Given the description of an element on the screen output the (x, y) to click on. 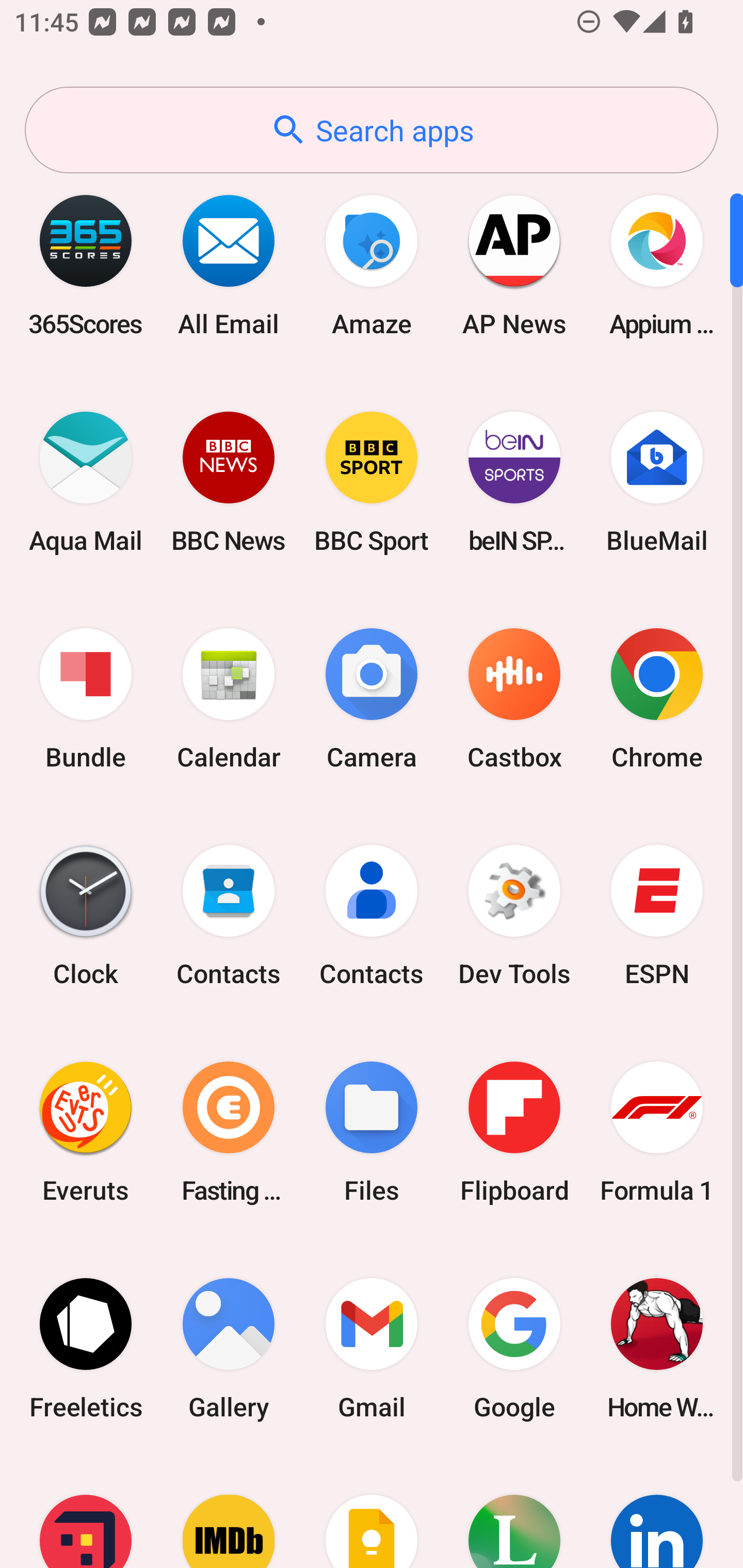
  Search apps (371, 130)
365Scores (85, 264)
All Email (228, 264)
Amaze (371, 264)
AP News (514, 264)
Appium Settings (656, 264)
Aqua Mail (85, 482)
BBC News (228, 482)
BBC Sport (371, 482)
beIN SPORTS (514, 482)
BlueMail (656, 482)
Bundle (85, 699)
Calendar (228, 699)
Camera (371, 699)
Castbox (514, 699)
Chrome (656, 699)
Clock (85, 915)
Contacts (228, 915)
Contacts (371, 915)
Dev Tools (514, 915)
ESPN (656, 915)
Everuts (85, 1131)
Fasting Coach (228, 1131)
Files (371, 1131)
Flipboard (514, 1131)
Formula 1 (656, 1131)
Freeletics (85, 1348)
Gallery (228, 1348)
Gmail (371, 1348)
Google (514, 1348)
Home Workout (656, 1348)
Hotels.com (85, 1512)
IMDb (228, 1512)
Keep Notes (371, 1512)
Lifesum (514, 1512)
LinkedIn (656, 1512)
